Given the description of an element on the screen output the (x, y) to click on. 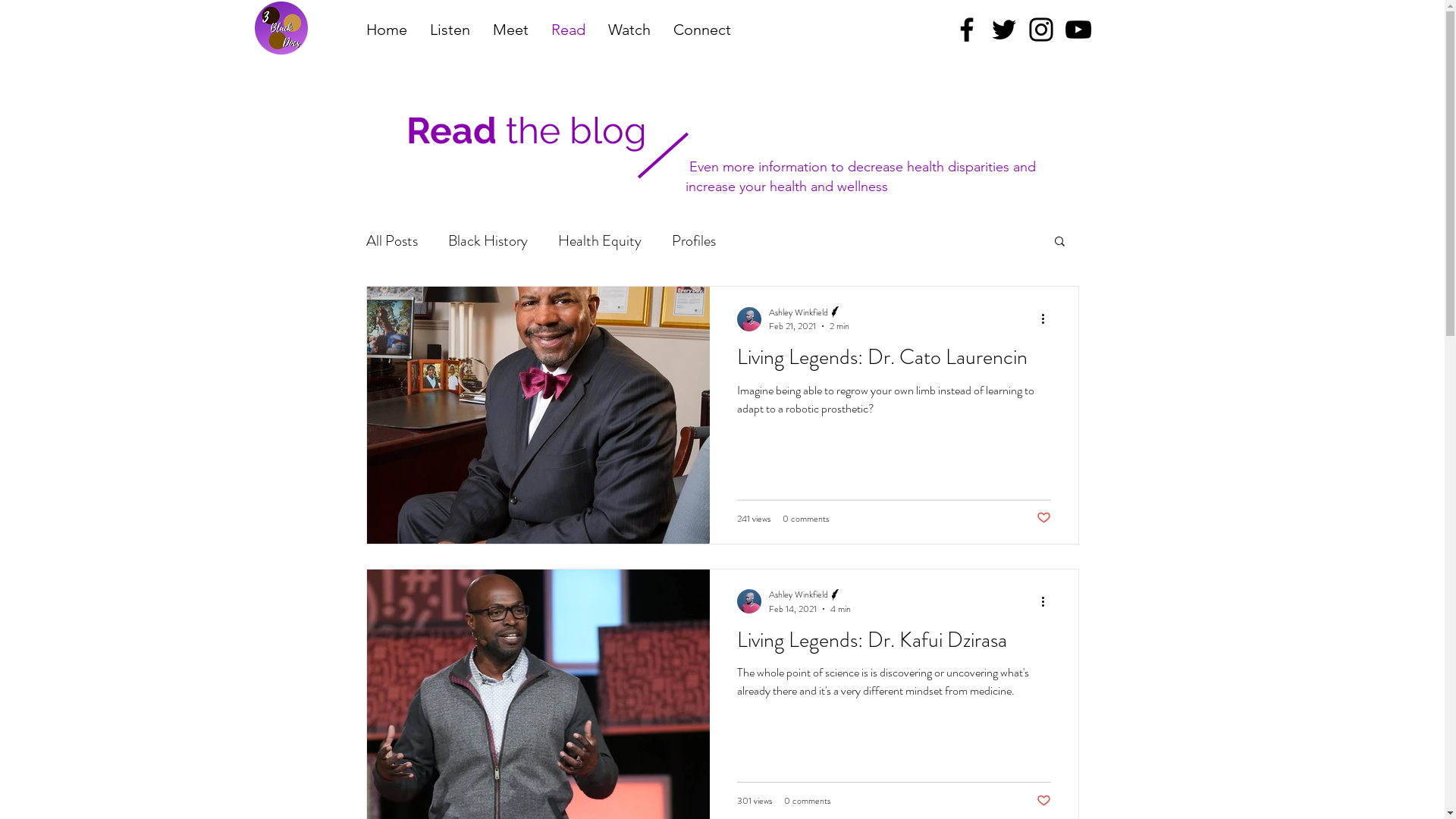
Black History Element type: text (487, 240)
Living Legends: Dr. Kafui Dzirasa Element type: text (894, 644)
Profiles Element type: text (693, 240)
Listen Element type: text (449, 29)
Connect Element type: text (701, 29)
Post not marked as liked Element type: text (1042, 518)
0 comments Element type: text (807, 800)
0 comments Element type: text (805, 517)
Read Element type: text (567, 29)
Meet Element type: text (509, 29)
Post not marked as liked Element type: text (1042, 801)
Health Equity Element type: text (599, 240)
All Posts Element type: text (391, 240)
Watch Element type: text (628, 29)
Living Legends: Dr. Cato Laurencin Element type: text (894, 361)
Home Element type: text (386, 29)
